Given the description of an element on the screen output the (x, y) to click on. 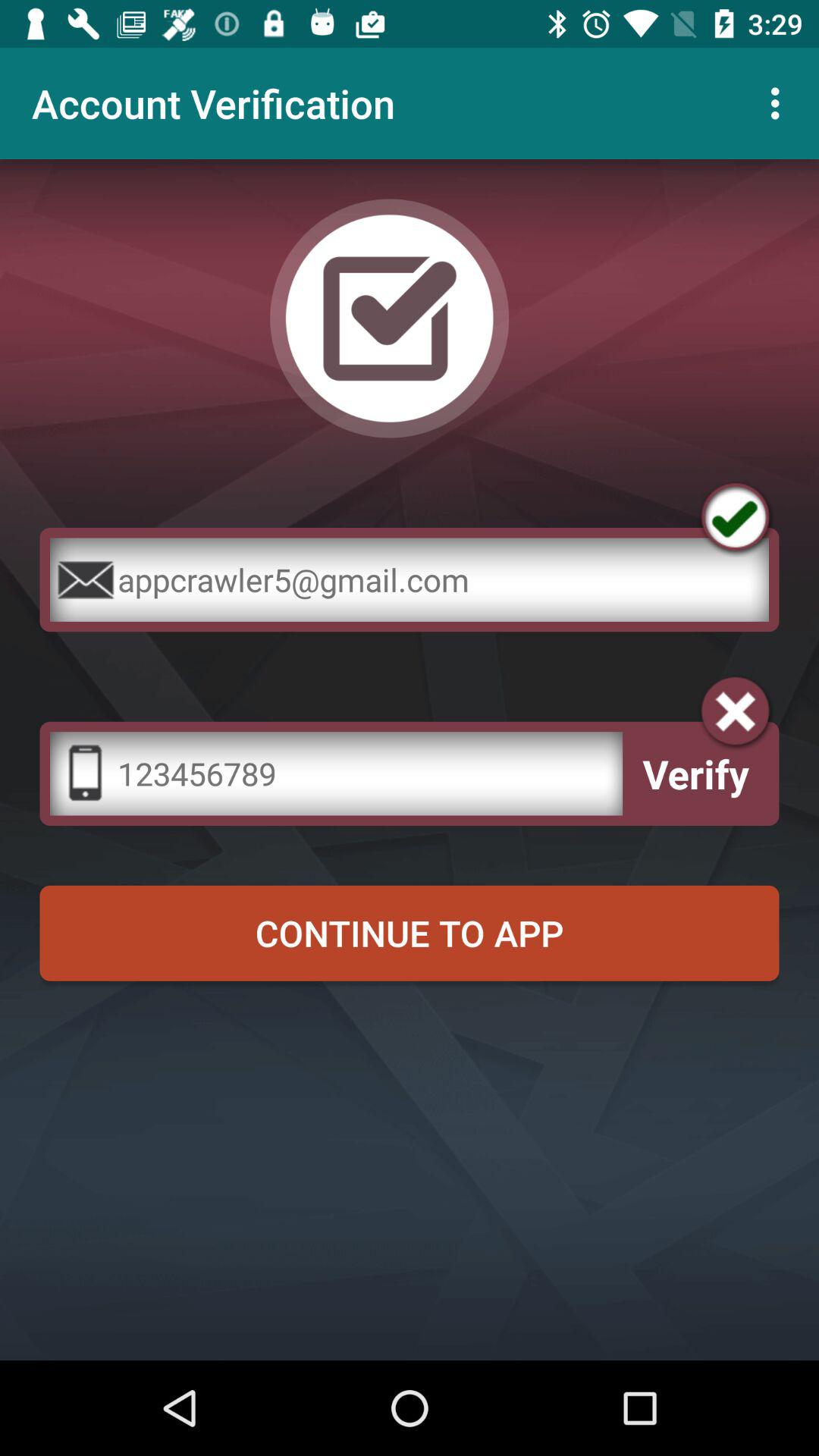
turn on icon at the top right corner (779, 103)
